Given the description of an element on the screen output the (x, y) to click on. 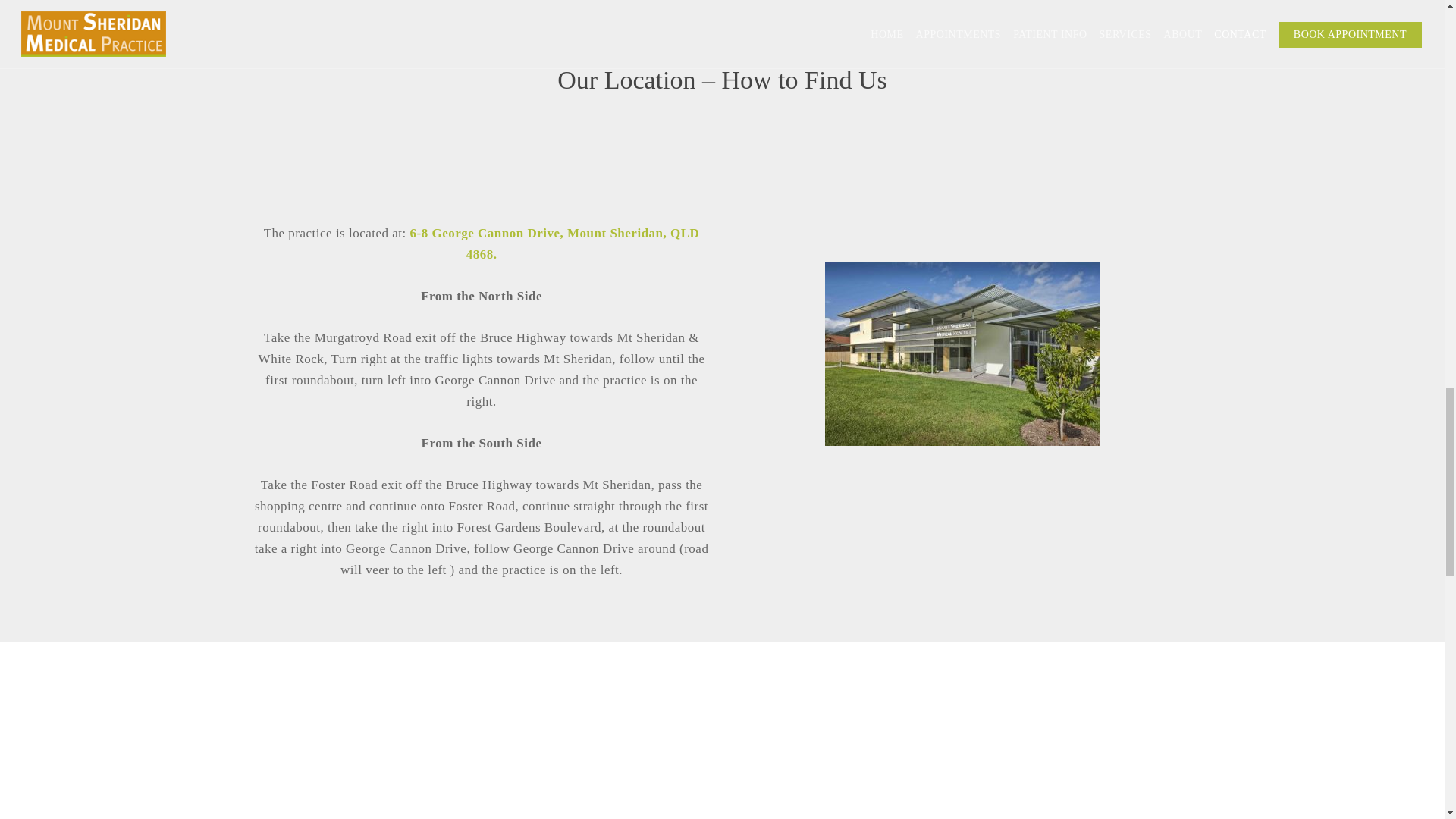
6-8 George Cannon Drive, Mount Sheridan, QLD 4868. (555, 243)
